Given the description of an element on the screen output the (x, y) to click on. 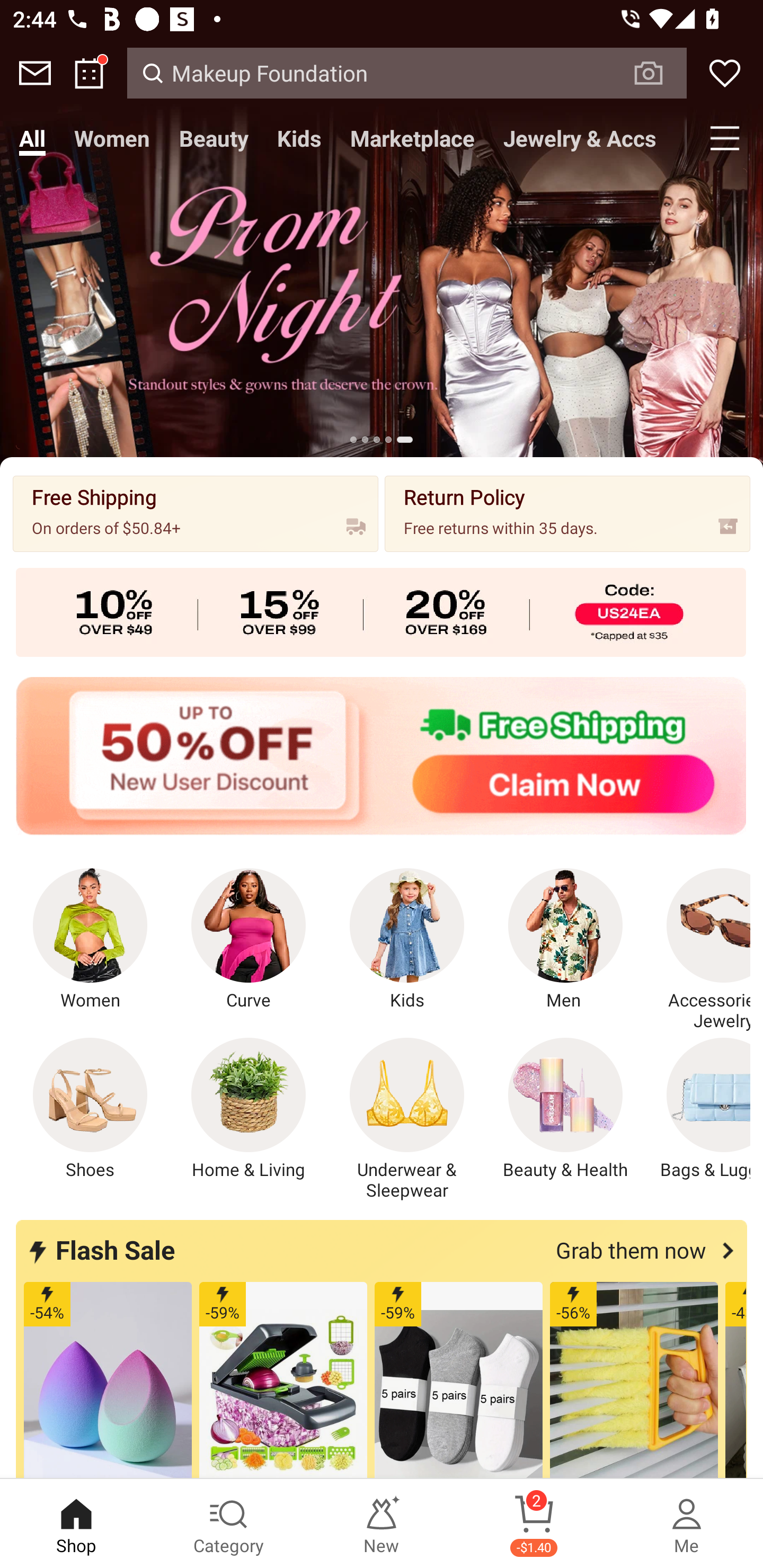
Wishlist (724, 72)
VISUAL SEARCH (657, 72)
All (31, 137)
Women (111, 137)
Beauty (213, 137)
Kids (298, 137)
Marketplace (412, 137)
Jewelry & Accs (580, 137)
Free Shipping On orders of $50.84+ (195, 513)
Return Policy Free returns within 35 days. (567, 513)
Women (89, 939)
Curve (248, 939)
Kids (406, 939)
Men  (565, 939)
Accessories & Jewelry (698, 949)
Shoes (89, 1109)
Home & Living (248, 1109)
Underwear & Sleepwear (406, 1119)
Beauty & Health (565, 1109)
Bags & Luggage (698, 1109)
Category (228, 1523)
New (381, 1523)
Cart 2 -$1.40 (533, 1523)
Me (686, 1523)
